Given the description of an element on the screen output the (x, y) to click on. 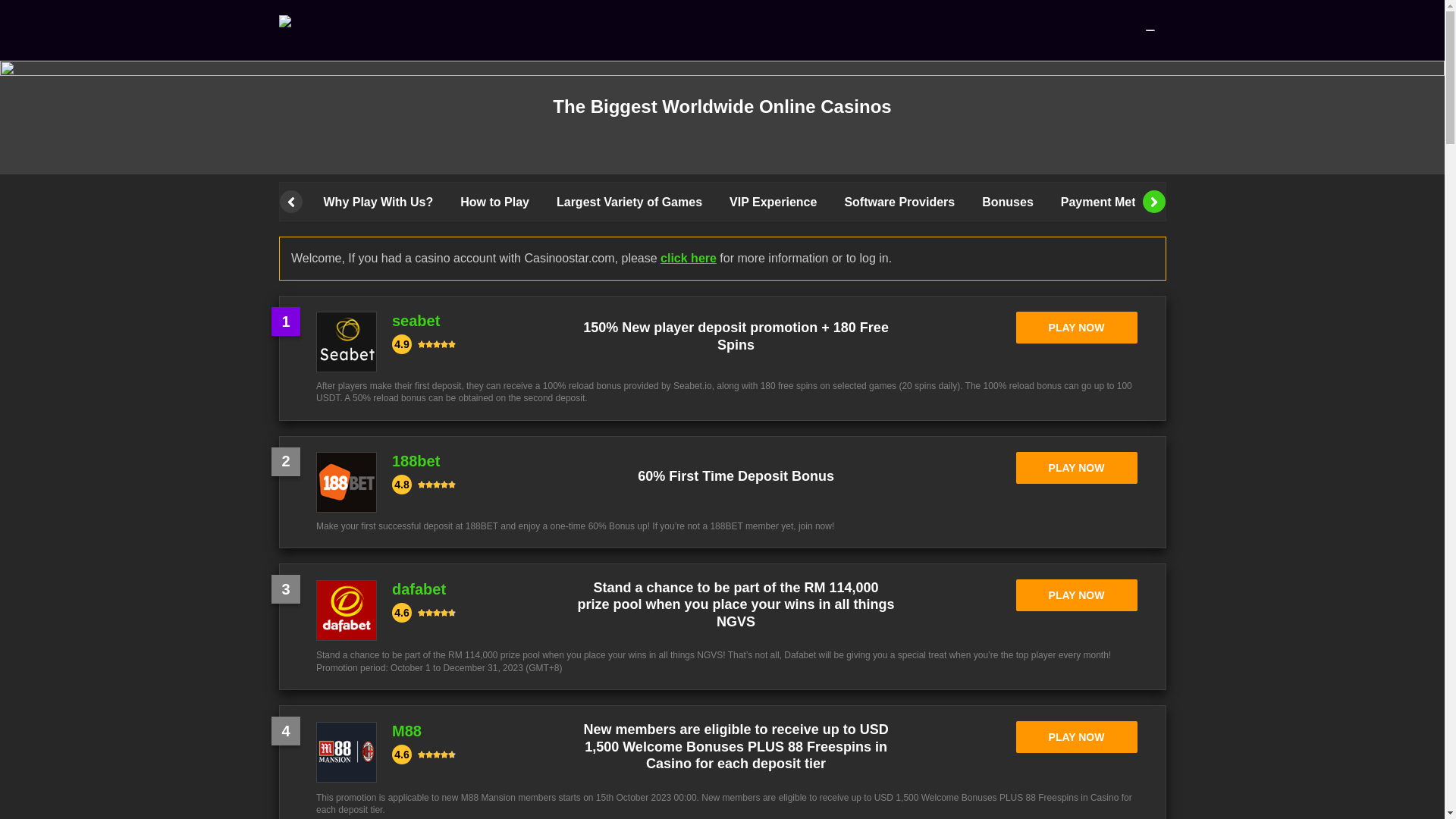
HTML MAP Element type: text (23, 710)
XML MAP Element type: text (69, 710)
TXT MAP Element type: text (111, 710)
